Given the description of an element on the screen output the (x, y) to click on. 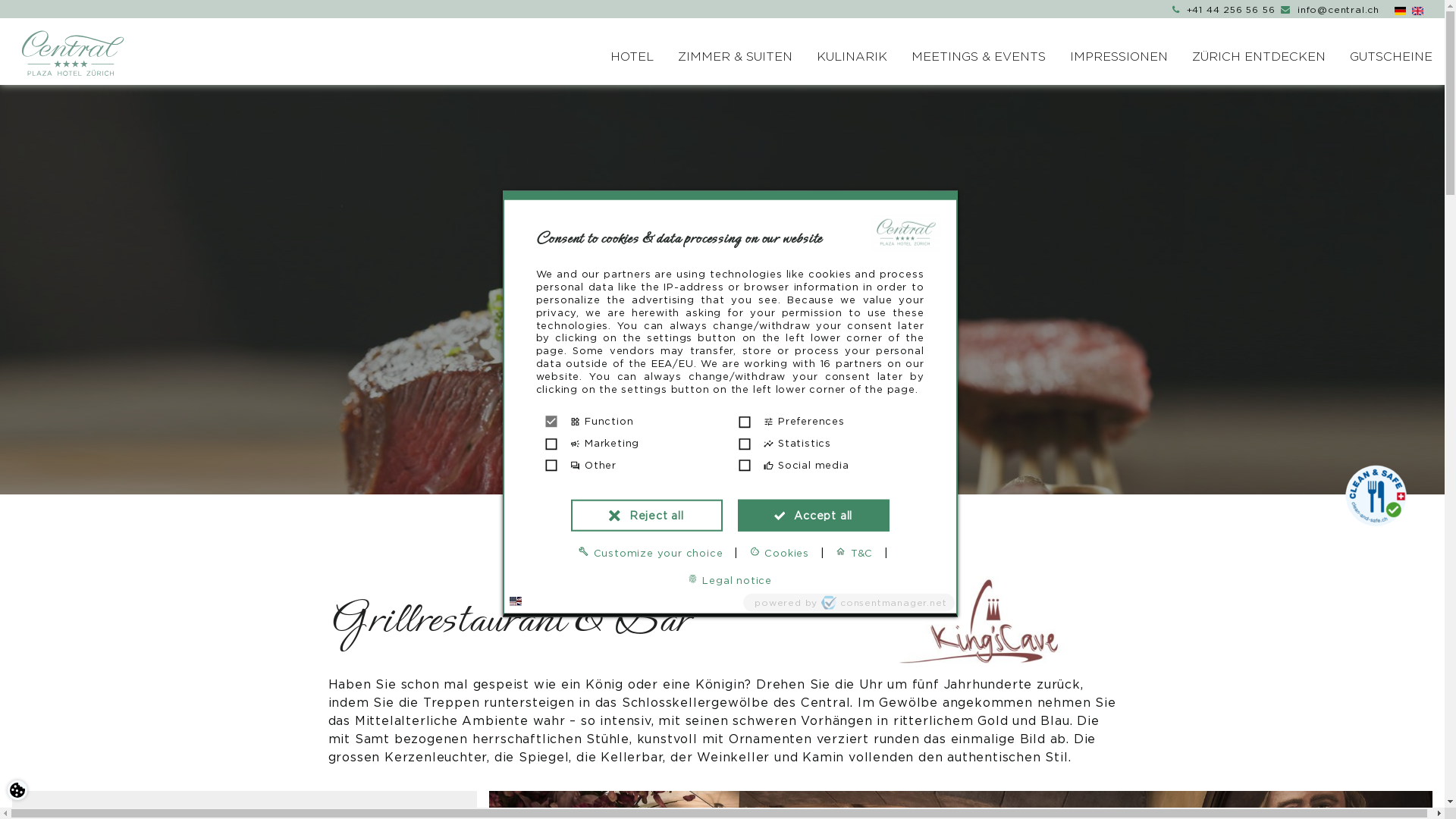
GUTSCHEINE Element type: text (1390, 56)
DEUTSCH Element type: text (1399, 10)
ENGLISH Element type: text (1417, 10)
MEETINGS & EVENTS Element type: text (978, 56)
KULINARIK Element type: text (851, 56)
HOTEL Element type: text (631, 56)
IMPRESSIONEN Element type: text (1118, 56)
ZIMMER & SUITEN Element type: text (734, 56)
